Given the description of an element on the screen output the (x, y) to click on. 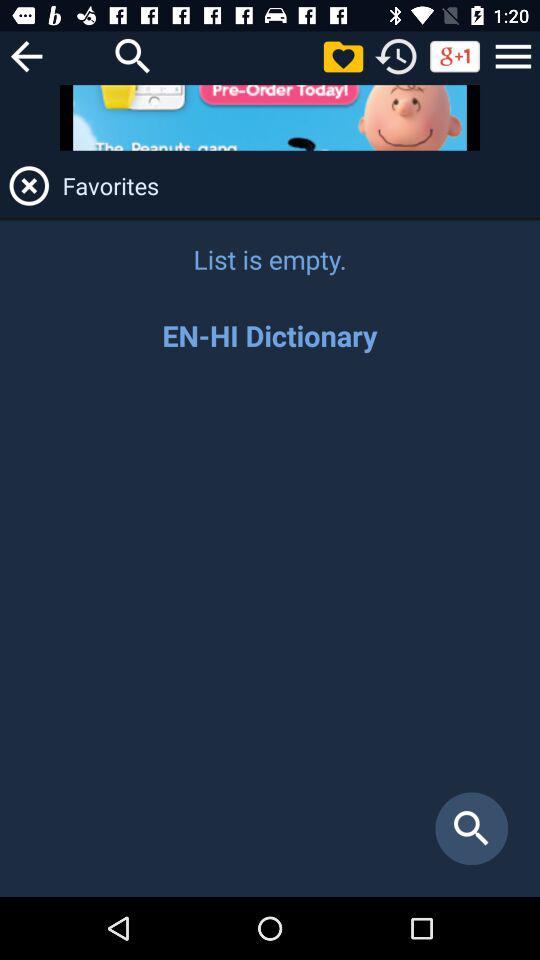
sidebar menu (513, 56)
